Given the description of an element on the screen output the (x, y) to click on. 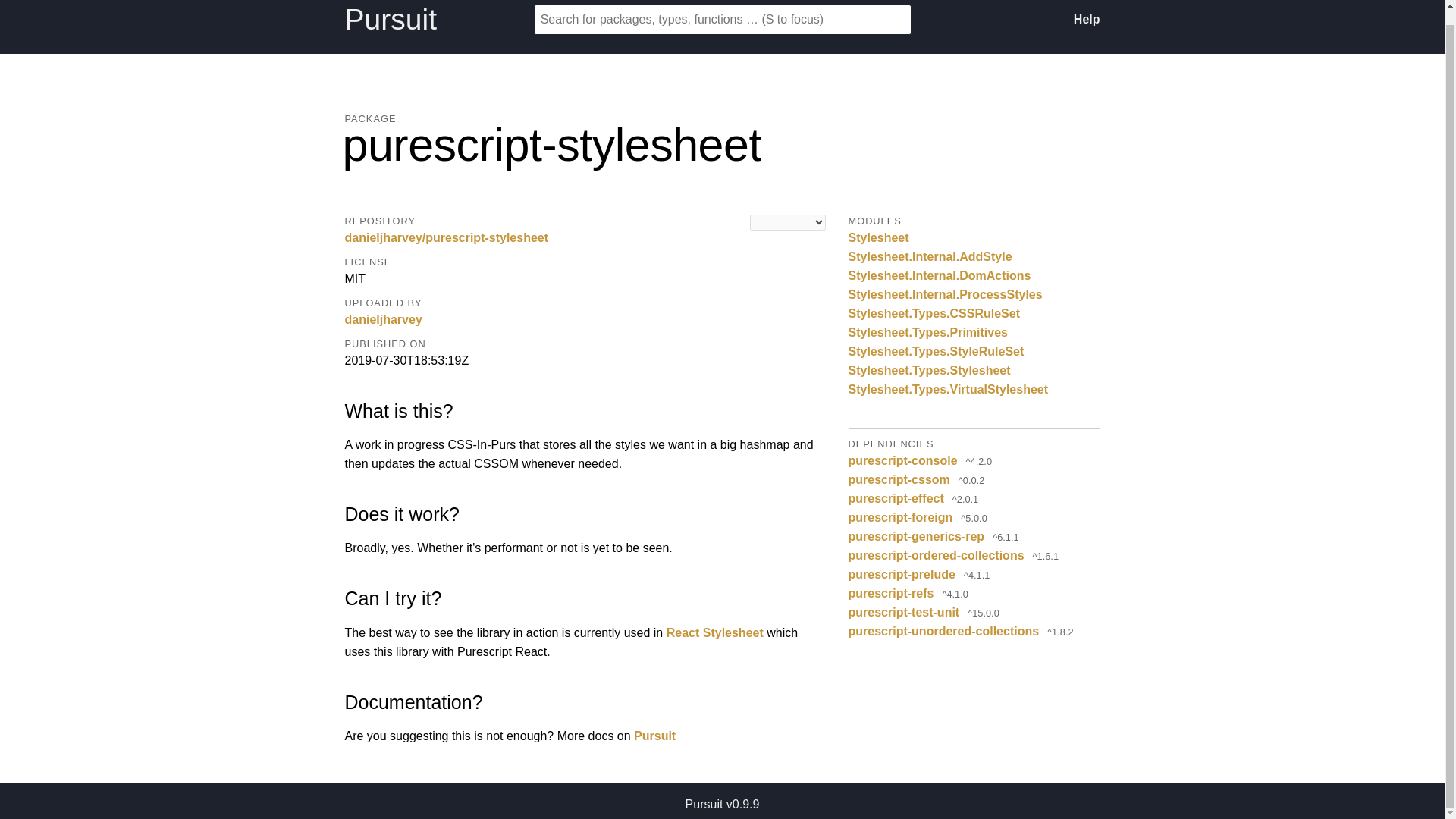
purescript-unordered-collections (943, 630)
Help (1087, 19)
Stylesheet.Internal.ProcessStyles (945, 294)
Stylesheet.Internal.DomActions (939, 275)
purescript-ordered-collections (936, 555)
purescript-test-unit (903, 611)
Pursuit (654, 735)
Stylesheet.Types.Primitives (927, 332)
purescript-prelude (901, 574)
Stylesheet.Internal.AddStyle (929, 256)
Stylesheet (878, 237)
purescript-foreign (900, 517)
purescript-cssom (899, 479)
purescript-console (903, 460)
purescript-effect (895, 497)
